Given the description of an element on the screen output the (x, y) to click on. 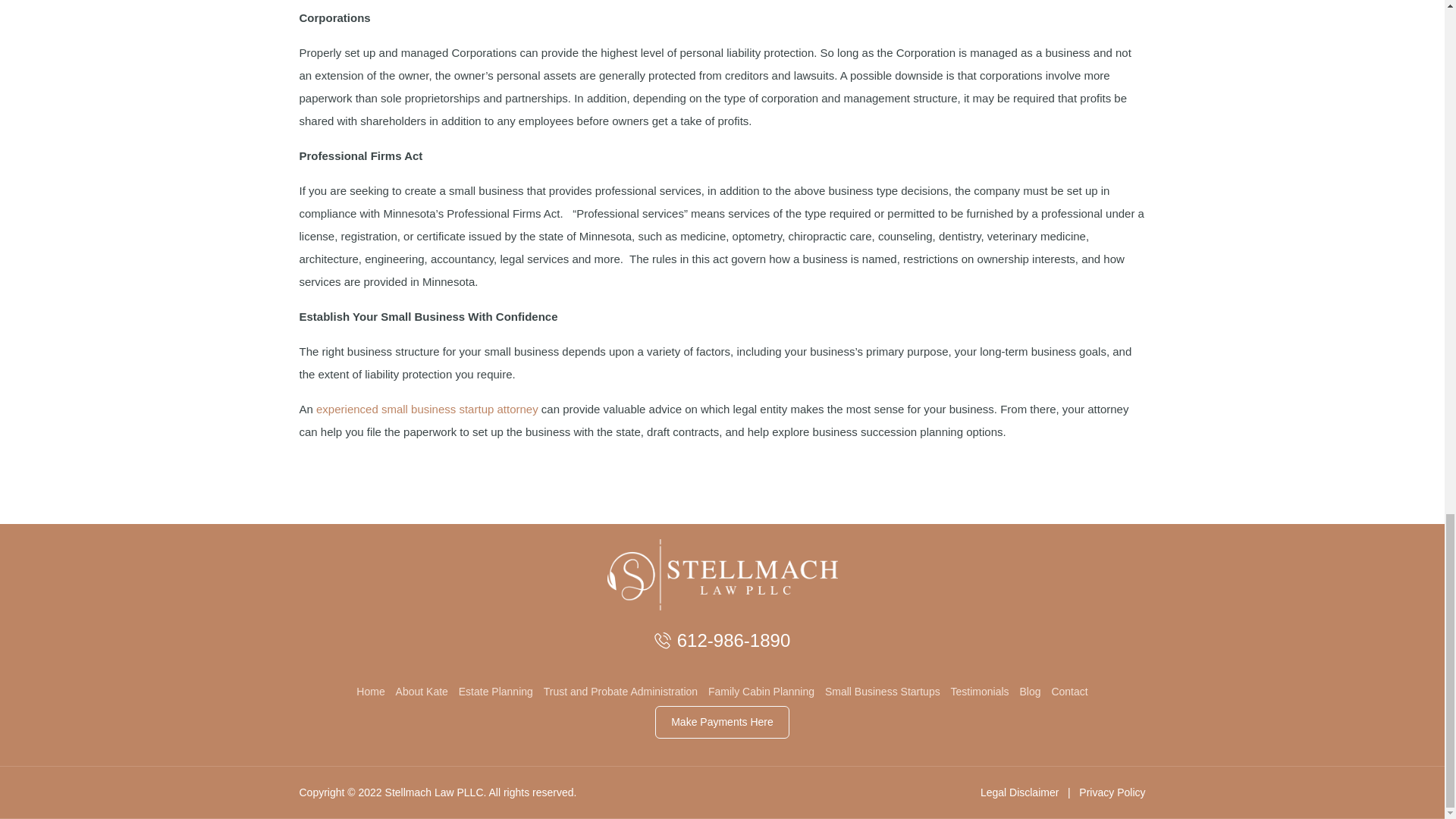
Trust and Probate Administration (620, 691)
Contact (1069, 691)
Legal Disclaimer (1018, 792)
Small Business Startups (882, 691)
Make Payments Here (722, 721)
Family Cabin Planning (760, 691)
612-986-1890 (733, 640)
About Kate (422, 691)
experienced small business startup attorney (425, 408)
Blog (1030, 691)
Privacy Policy (1111, 792)
Home (370, 691)
Estate Planning (495, 691)
Testimonials (979, 691)
